Given the description of an element on the screen output the (x, y) to click on. 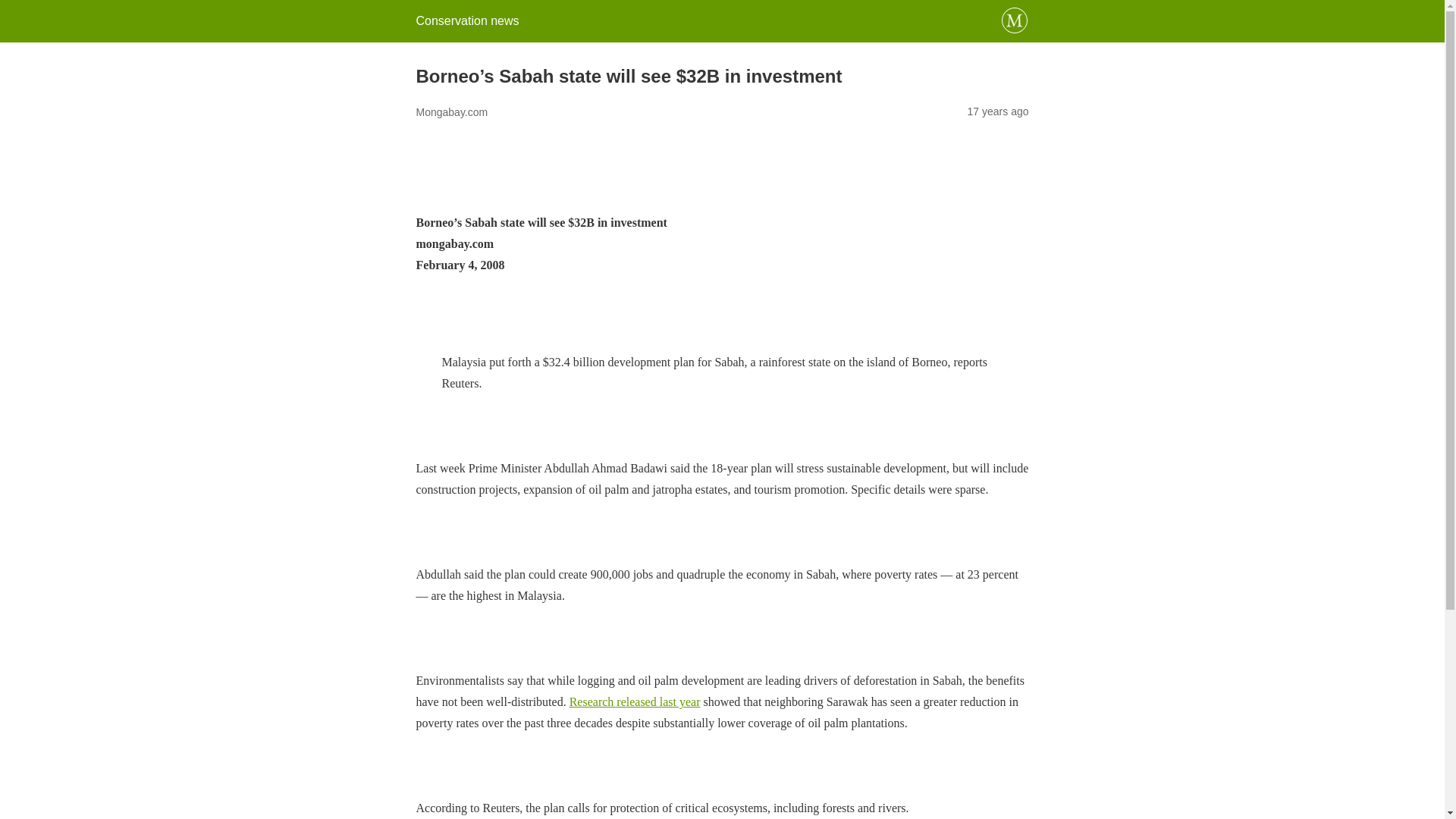
Conservation news (466, 20)
Research released last year (634, 701)
